Given the description of an element on the screen output the (x, y) to click on. 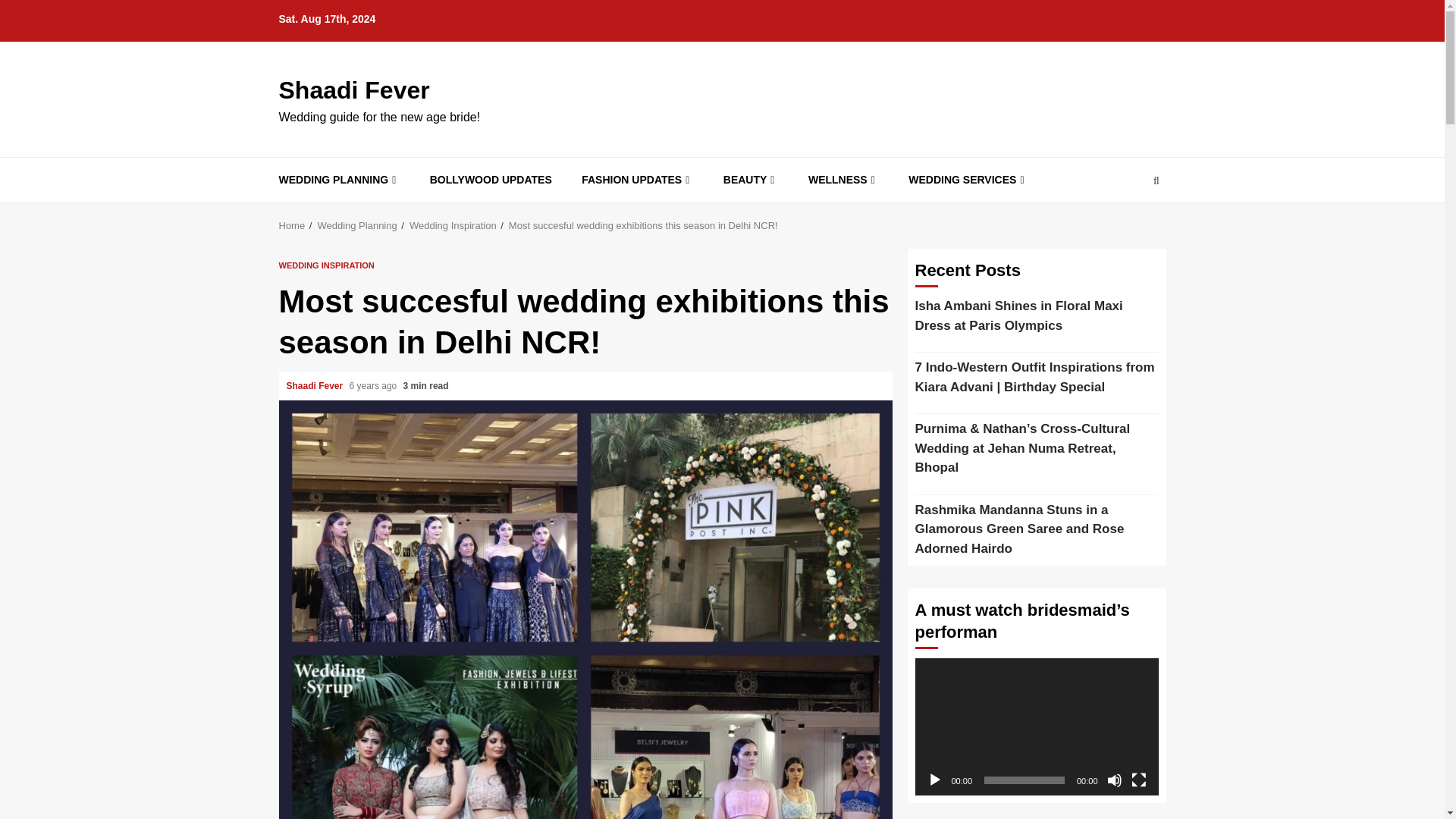
Play (934, 780)
BEAUTY (750, 179)
Most succesful wedding exhibitions this season in Delhi NCR! (642, 225)
Wedding Inspiration (452, 225)
Search (1126, 225)
Mute (1114, 780)
WEDDING INSPIRATION (326, 265)
Fullscreen (1139, 780)
Shaadi Fever (354, 90)
BOLLYWOOD UPDATES (490, 179)
